Given the description of an element on the screen output the (x, y) to click on. 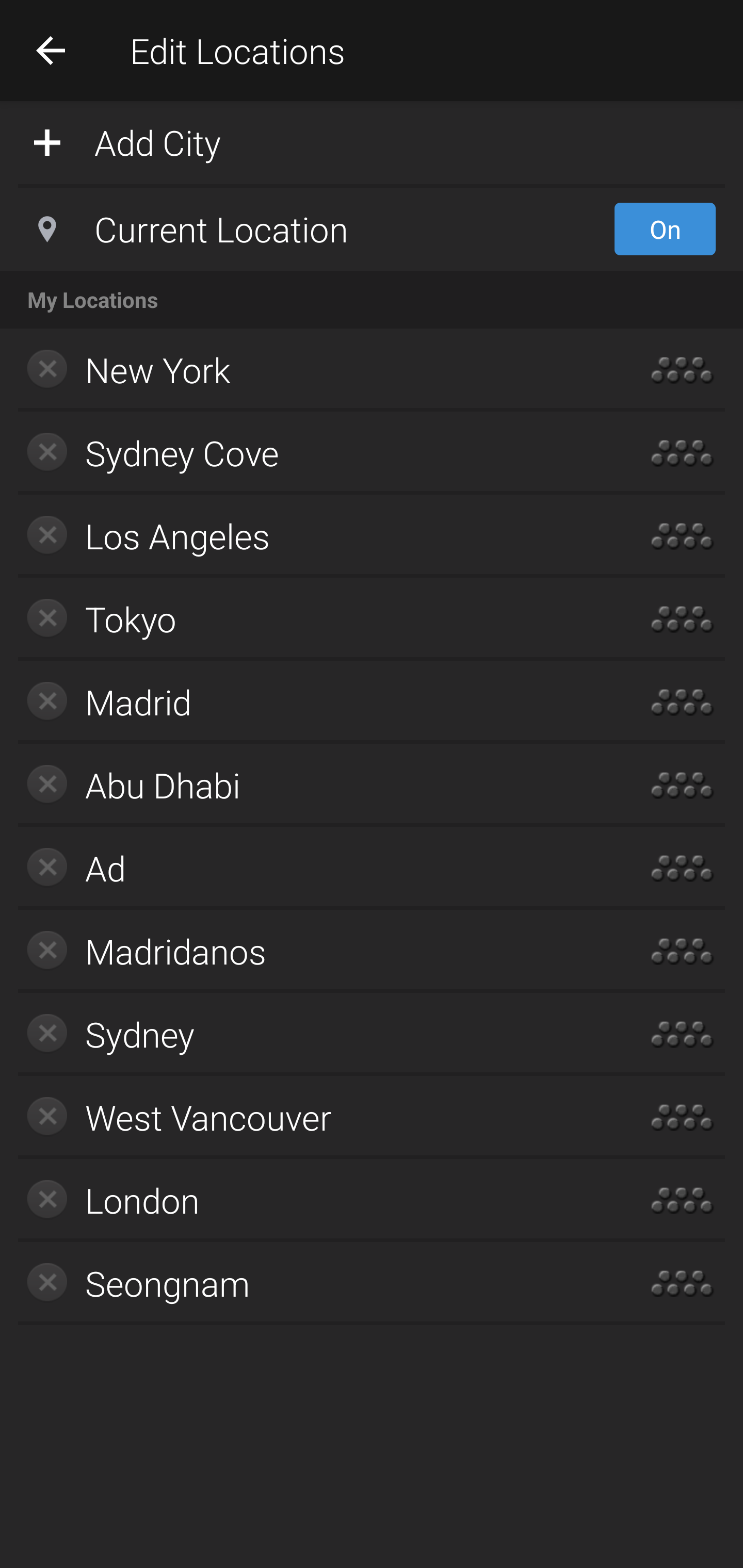
Navigate up (50, 50)
Add City (371, 141)
Current Location: On Current Location On (371, 229)
Delete: New York New York (311, 369)
Delete: Sydney Cove Sydney Cove (311, 452)
Delete: Los Angeles Los Angeles (311, 535)
Delete: Tokyo Tokyo (311, 618)
Delete: Madrid Madrid (311, 701)
Delete: Abu Dhabi Abu Dhabi (311, 784)
Delete: Ad Ad (311, 867)
Delete: Madridanos Madridanos (311, 950)
Delete: Sydney Sydney (311, 1033)
Delete: West Vancouver West Vancouver (311, 1116)
Delete: London London (311, 1200)
Delete: Seongnam Seongnam (311, 1283)
